Given the description of an element on the screen output the (x, y) to click on. 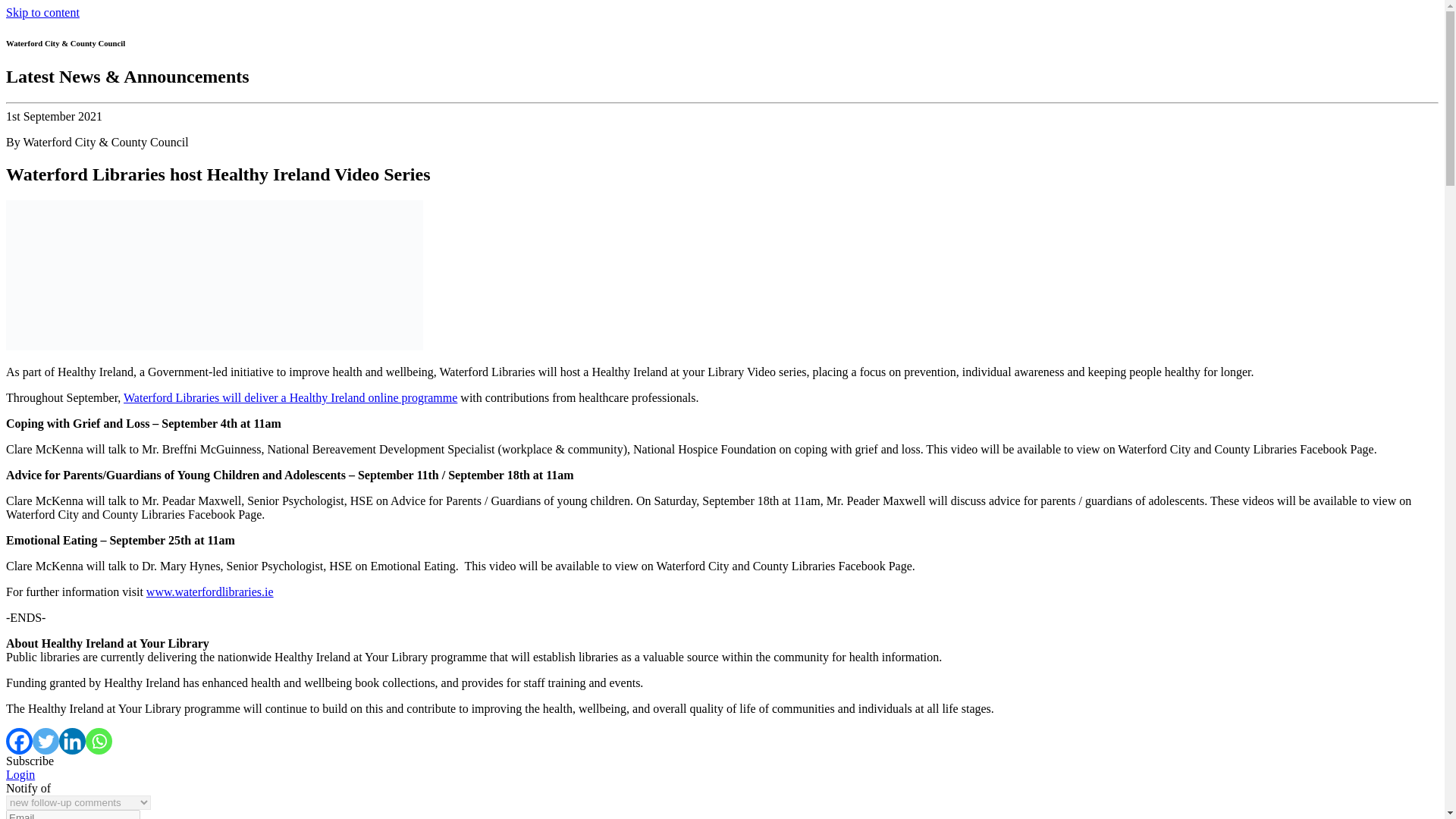
Login (19, 774)
Twitter (45, 741)
Facebook (18, 741)
Whatsapp (98, 741)
www.waterfordlibraries.ie (210, 591)
Skip to content (42, 11)
Linkedin (72, 741)
